Given the description of an element on the screen output the (x, y) to click on. 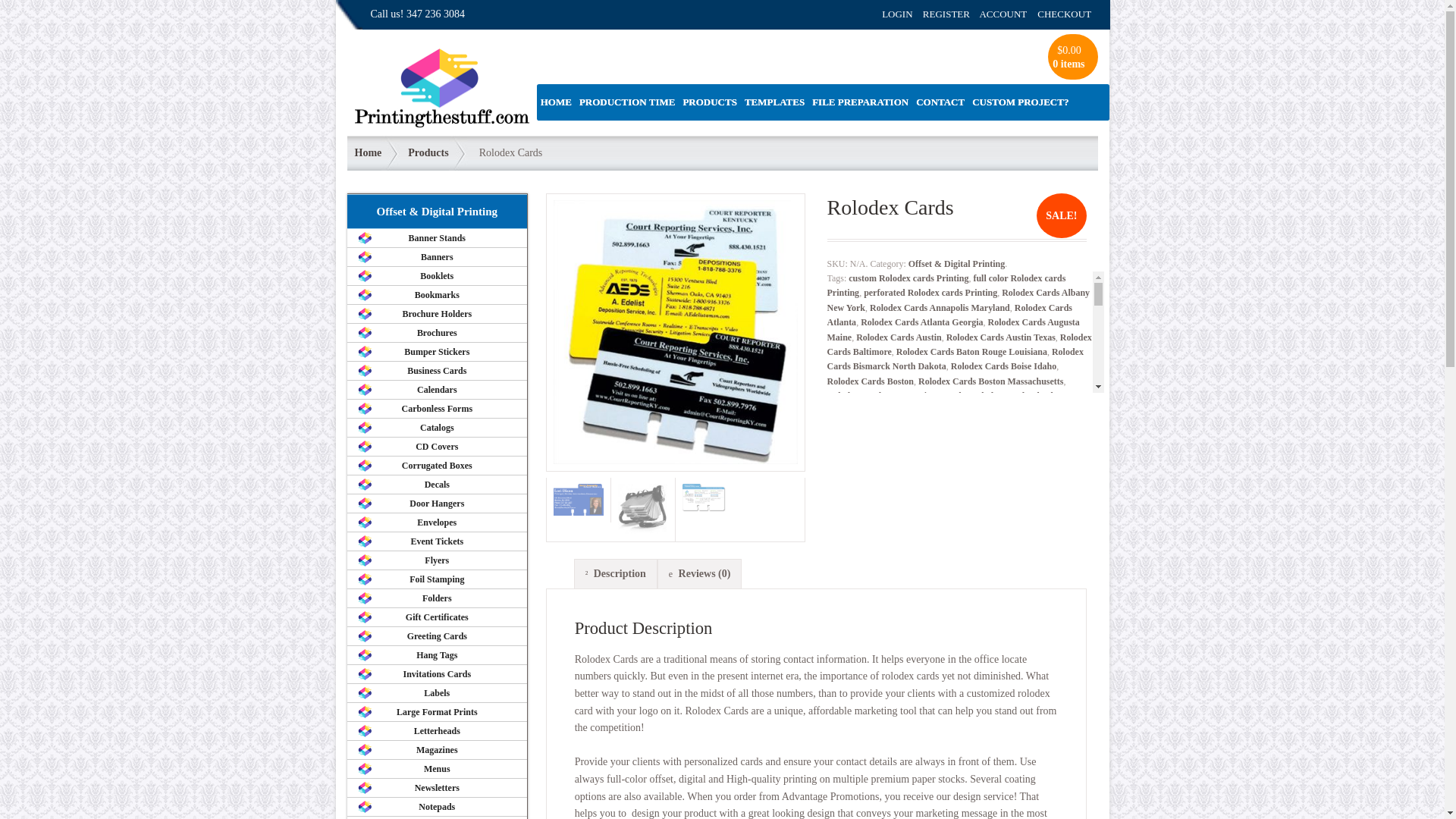
Rolodex Cards Boston Massachusetts (990, 380)
Rolodex Cards Carson City Nevada (896, 395)
Rolodex Cards Augusta Maine (952, 329)
TEMPLATES (774, 102)
Rolodex Cards Annapolis Maryland (939, 307)
LOGIN REGISTER ACCOUNT (954, 13)
Rolodex Cards Boston (870, 380)
Rolodex Cards Austin (899, 337)
Rolodex Cards (707, 498)
Bookmarks (437, 294)
custom Rolodex cards Printing (908, 277)
Home (364, 153)
PRODUCTS (709, 102)
perforated Rolodex cards Printing (930, 292)
CONTACT (940, 102)
